Given the description of an element on the screen output the (x, y) to click on. 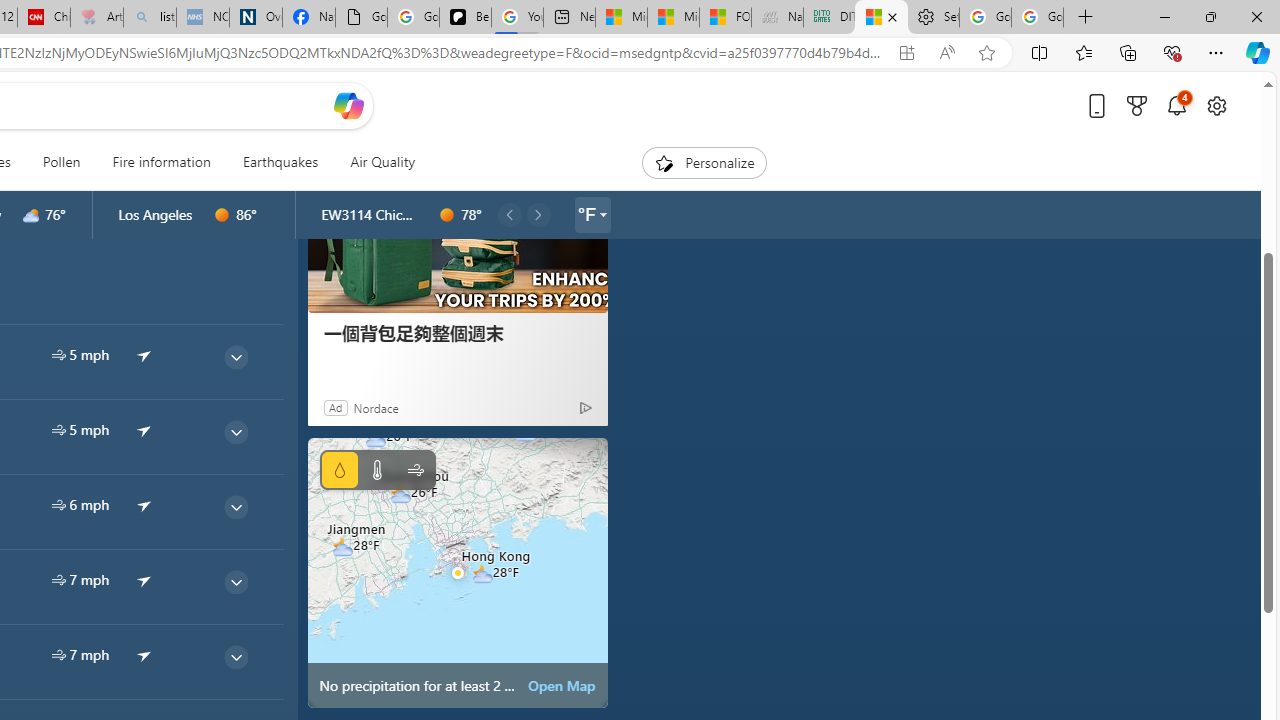
d0000 (447, 215)
Pollen (61, 162)
common/carouselChevron (538, 214)
Earthquakes (280, 162)
Earthquakes (279, 162)
FOX News - MSN (725, 17)
Google Analytics Opt-out Browser Add-on Download Page (360, 17)
